Given the description of an element on the screen output the (x, y) to click on. 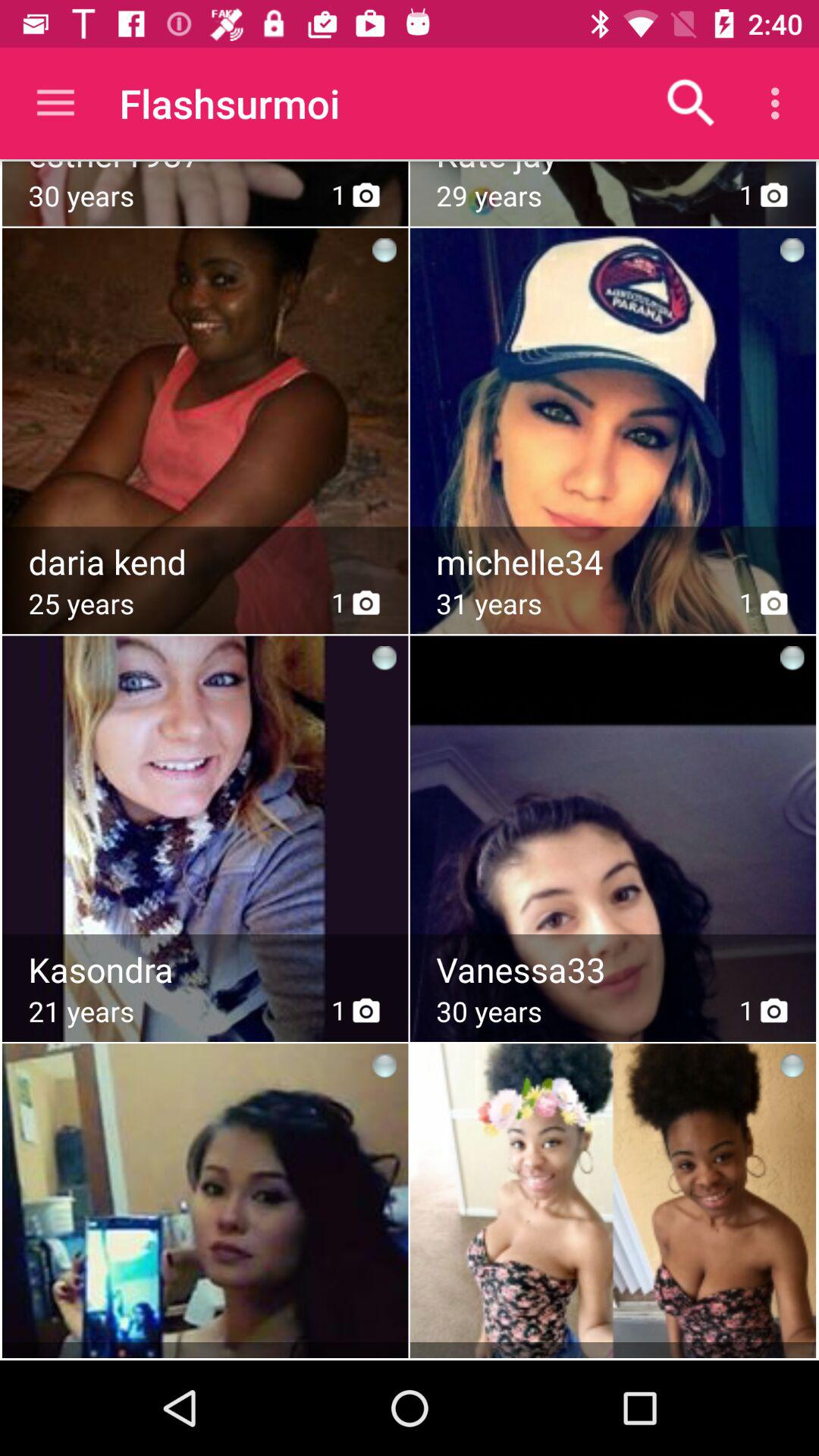
select photo (614, 801)
